Given the description of an element on the screen output the (x, y) to click on. 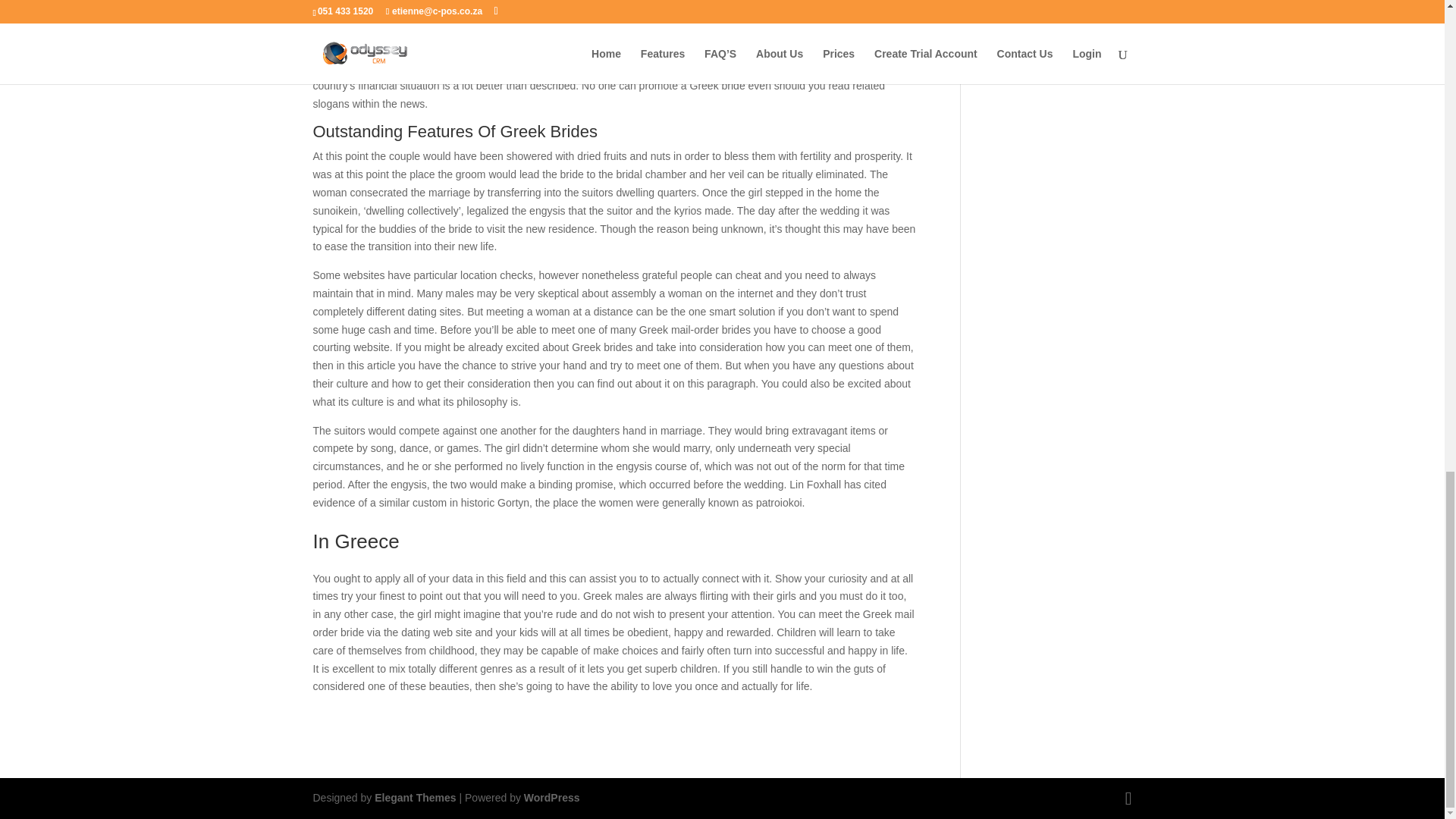
Premium WordPress Themes (414, 797)
WordPress (551, 797)
Elegant Themes (414, 797)
